Given the description of an element on the screen output the (x, y) to click on. 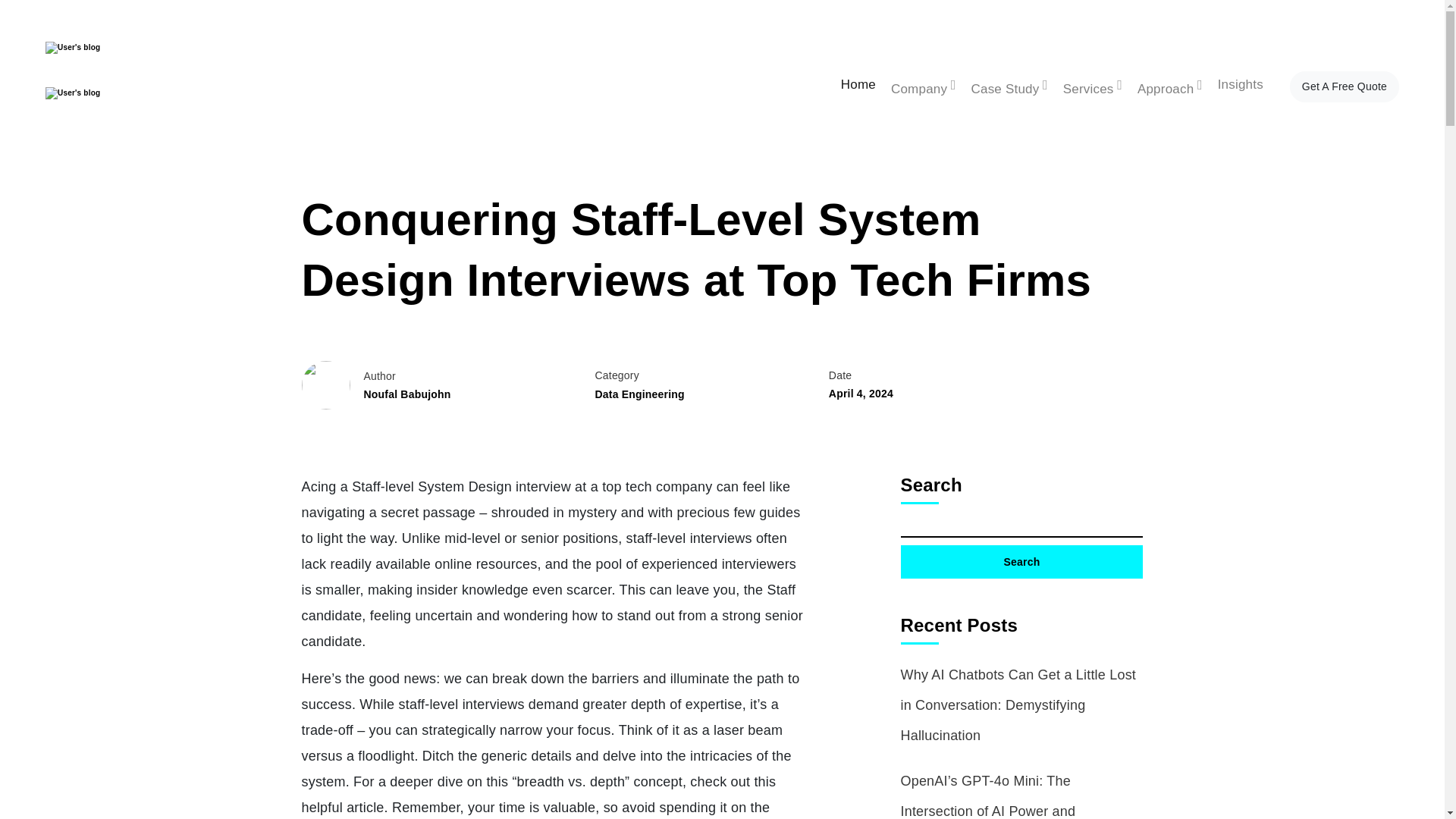
Case Study (1009, 86)
Company (922, 86)
Services (1092, 86)
